Given the description of an element on the screen output the (x, y) to click on. 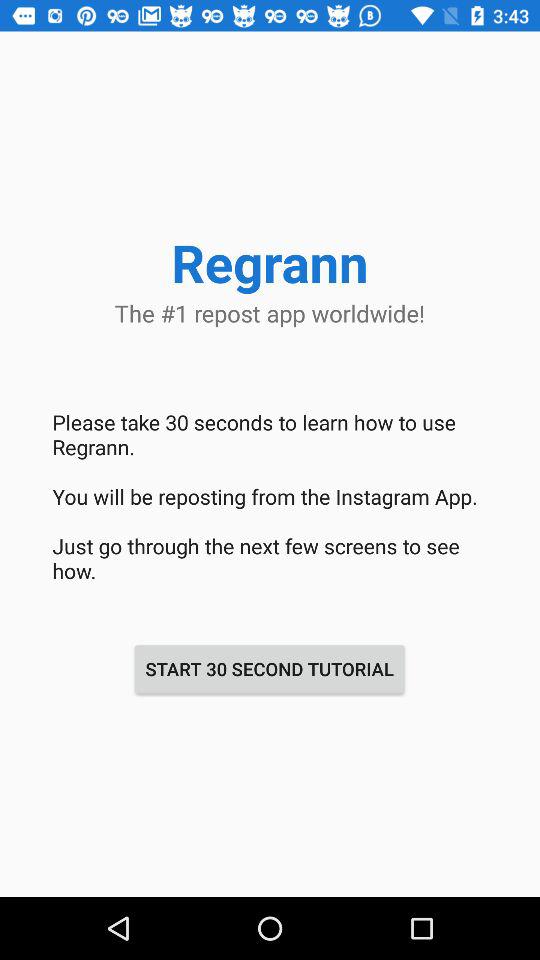
swipe until the start 30 second icon (269, 668)
